Given the description of an element on the screen output the (x, y) to click on. 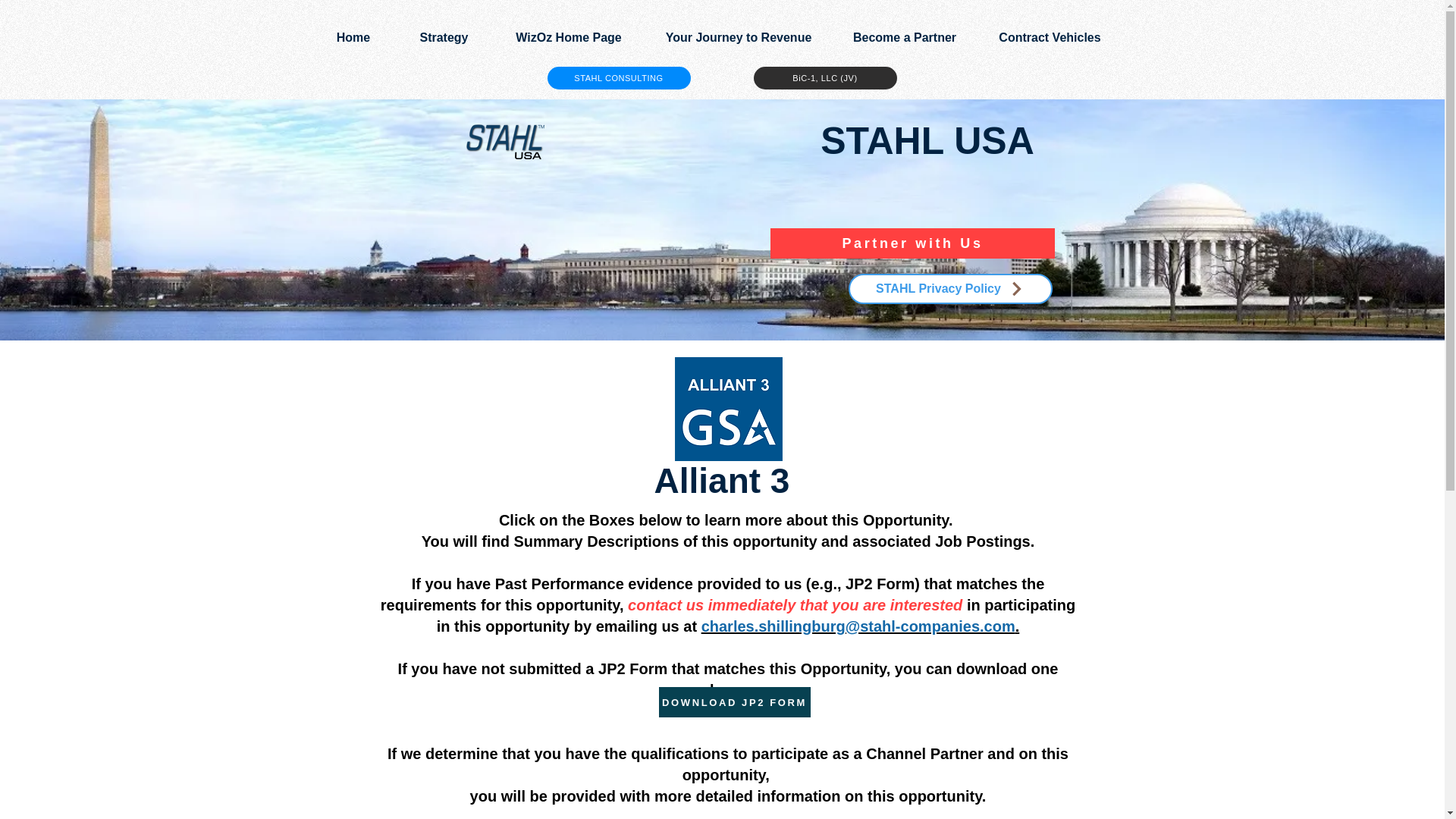
Contract Vehicles (1050, 37)
Become a Partner (903, 37)
WizOz Home Page (568, 37)
Alliant 3.png (729, 409)
STAHL Privacy Policy (949, 288)
DOWNLOAD JP2 FORM (733, 702)
Home (353, 37)
Strategy (444, 37)
STAHL CONSULTING (618, 77)
Your Journey to Revenue (738, 37)
Partner with Us (912, 243)
